Given the description of an element on the screen output the (x, y) to click on. 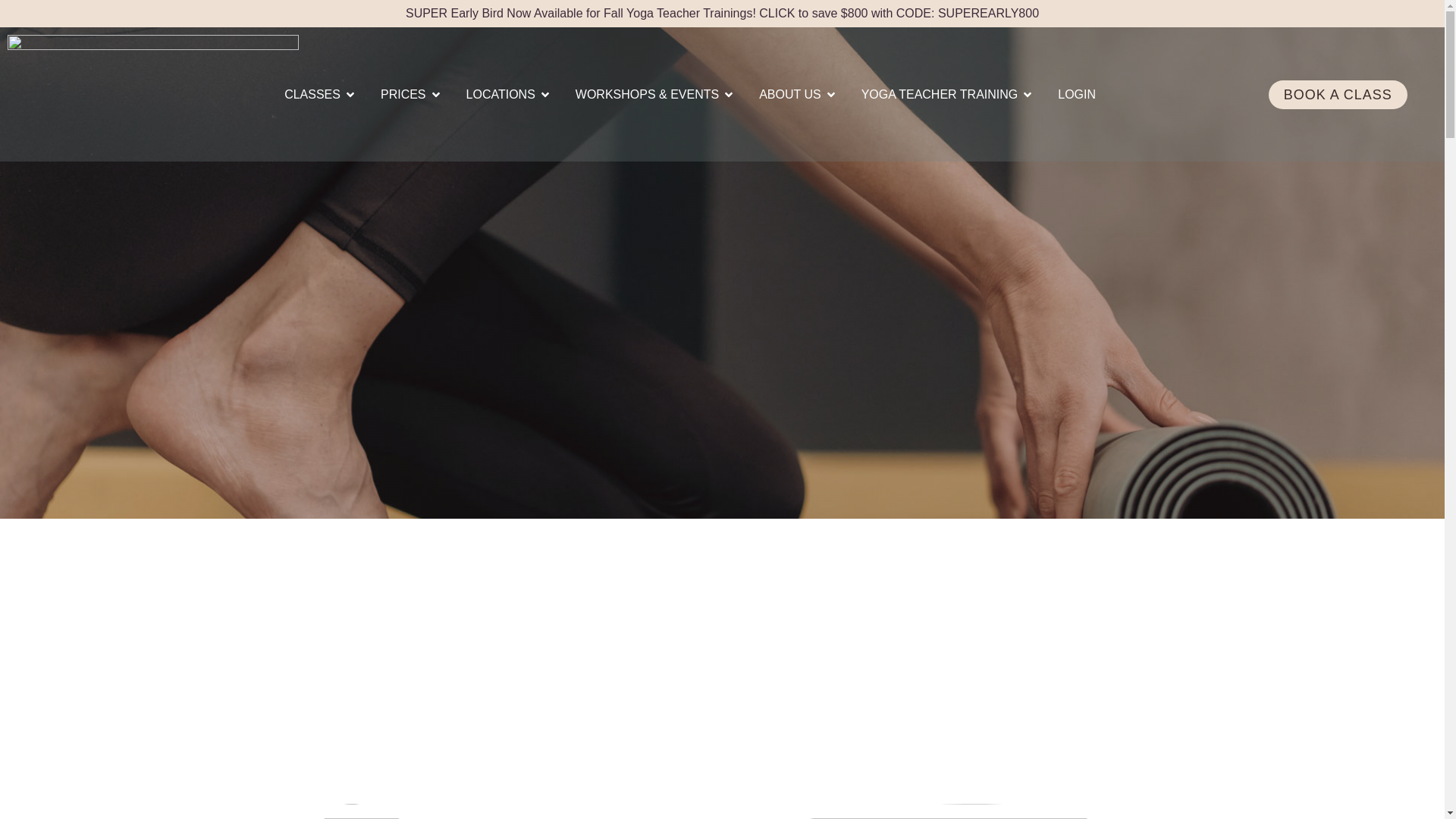
PRICES (403, 94)
LOCATIONS (500, 94)
YOGA TEACHER TRAINING (939, 94)
LOGIN (1077, 94)
ABOUT US (789, 94)
CLASSES (311, 94)
